Given the description of an element on the screen output the (x, y) to click on. 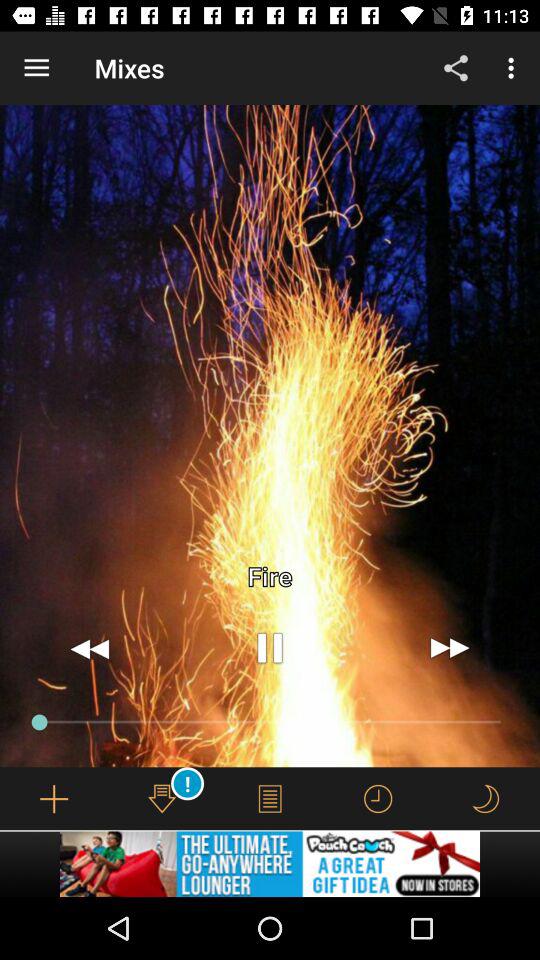
goes back in time in the video (90, 648)
